Given the description of an element on the screen output the (x, y) to click on. 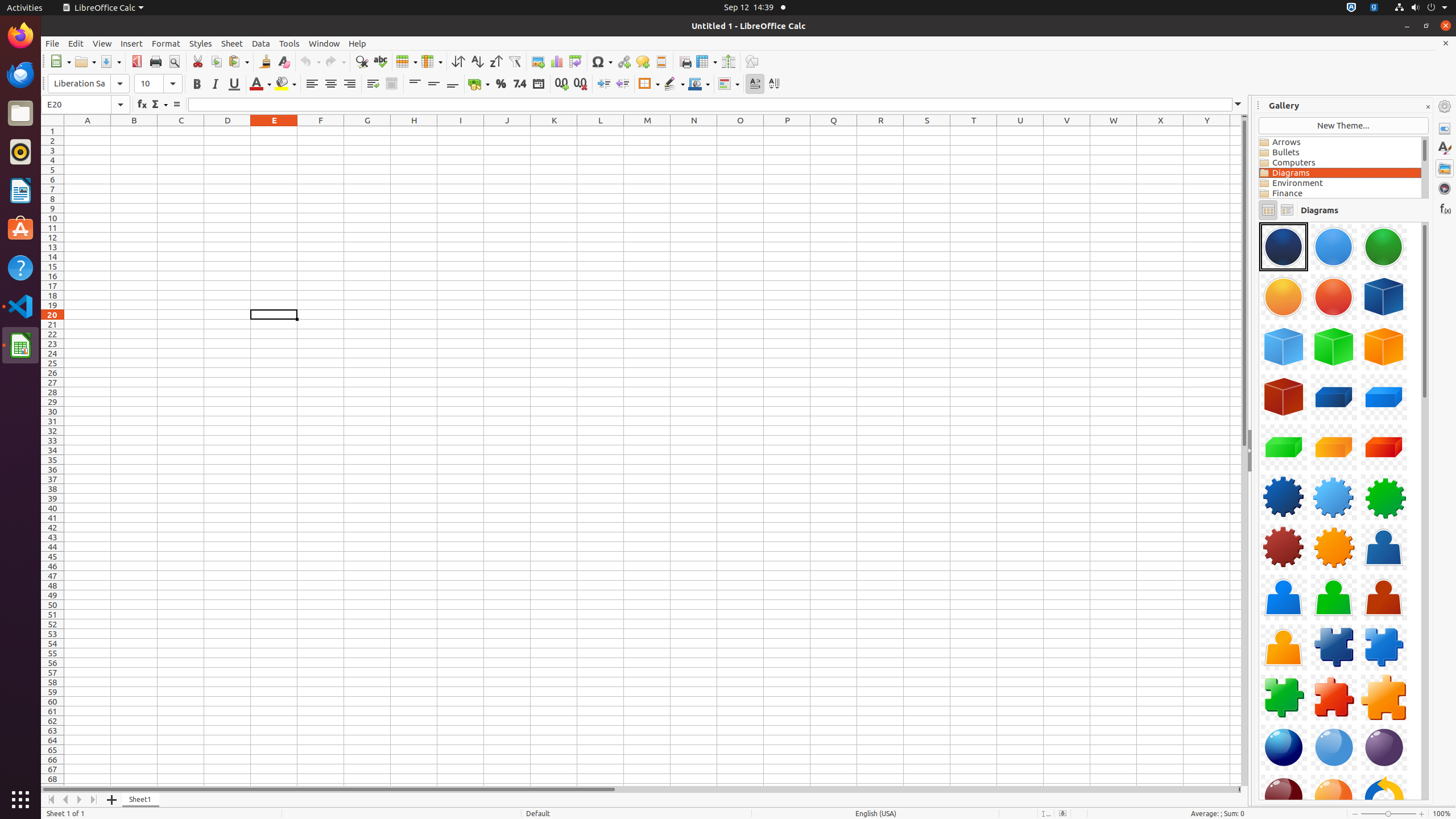
Icon View Element type: toggle-button (1267, 210)
Window Element type: menu (324, 43)
PDF Element type: push-button (136, 61)
Diagrams Element type: list-item (1340, 172)
Column Element type: push-button (431, 61)
